Given the description of an element on the screen output the (x, y) to click on. 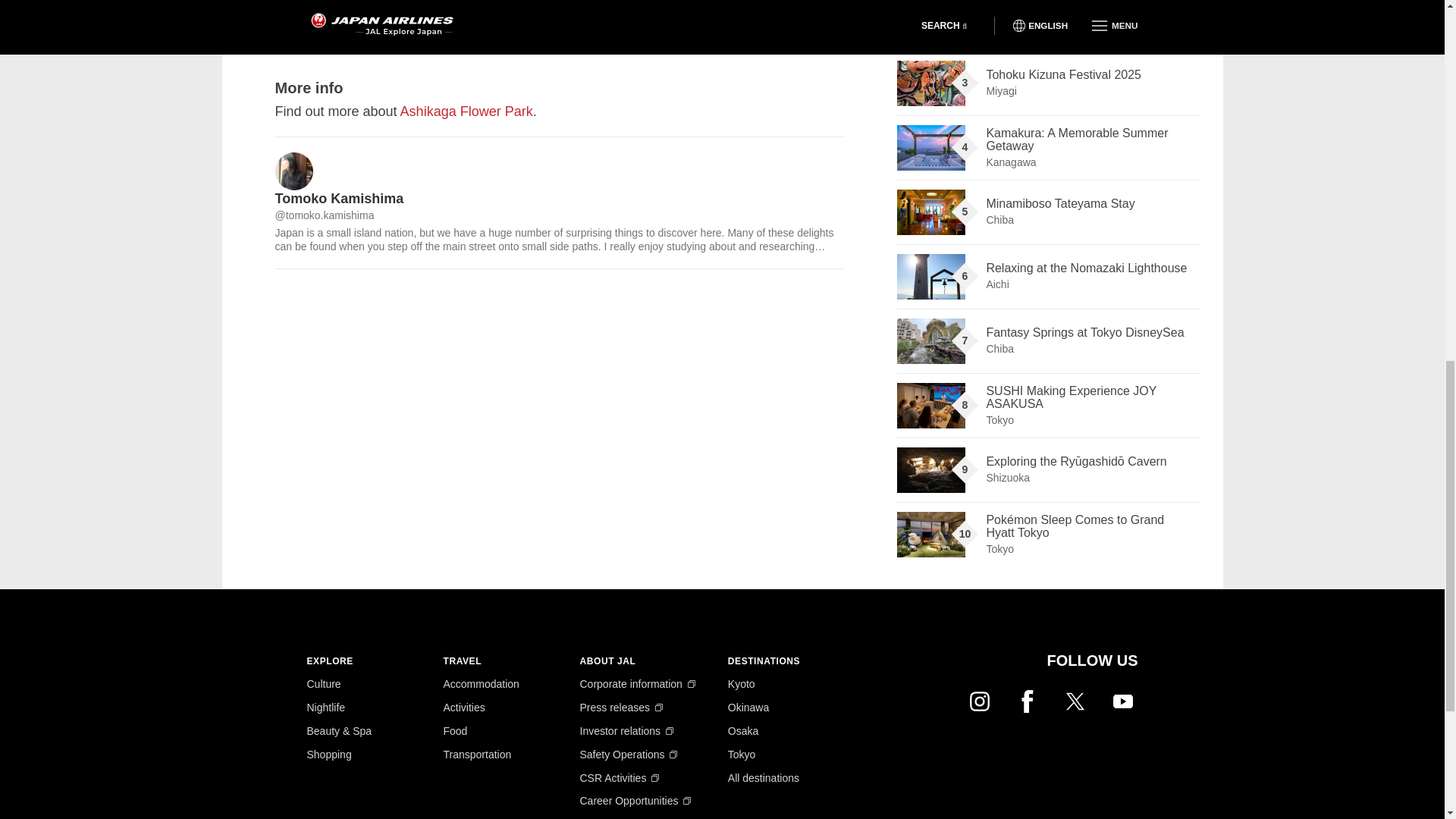
SUSHI Making Experience JOY ASAKUSA (930, 405)
Minamiboso Tateyama Stay (930, 212)
Tohoku Kizuna Festival 2025 (930, 83)
Relaxing at the Nomazaki Lighthouse (930, 276)
Tokyo Ghoul Exposition 2024 (930, 20)
Kamakura: A Memorable Summer Getaway (930, 147)
Fantasy Springs at Tokyo DisneySea (930, 340)
